Given the description of an element on the screen output the (x, y) to click on. 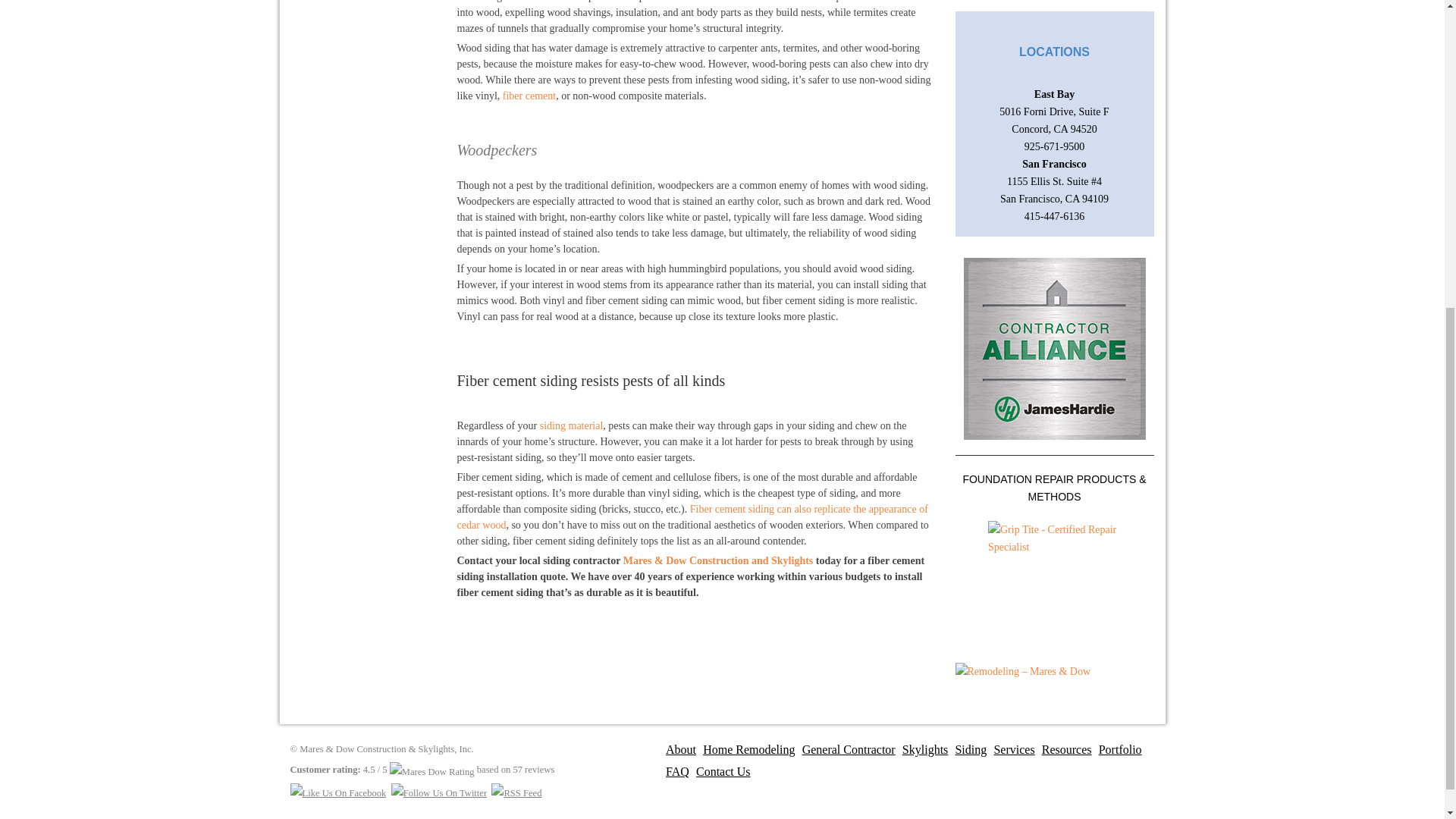
Services (1009, 749)
Portfolio (1115, 749)
Resources (1062, 749)
About (676, 749)
Contact Us (719, 771)
FAQ (673, 771)
